Given the description of an element on the screen output the (x, y) to click on. 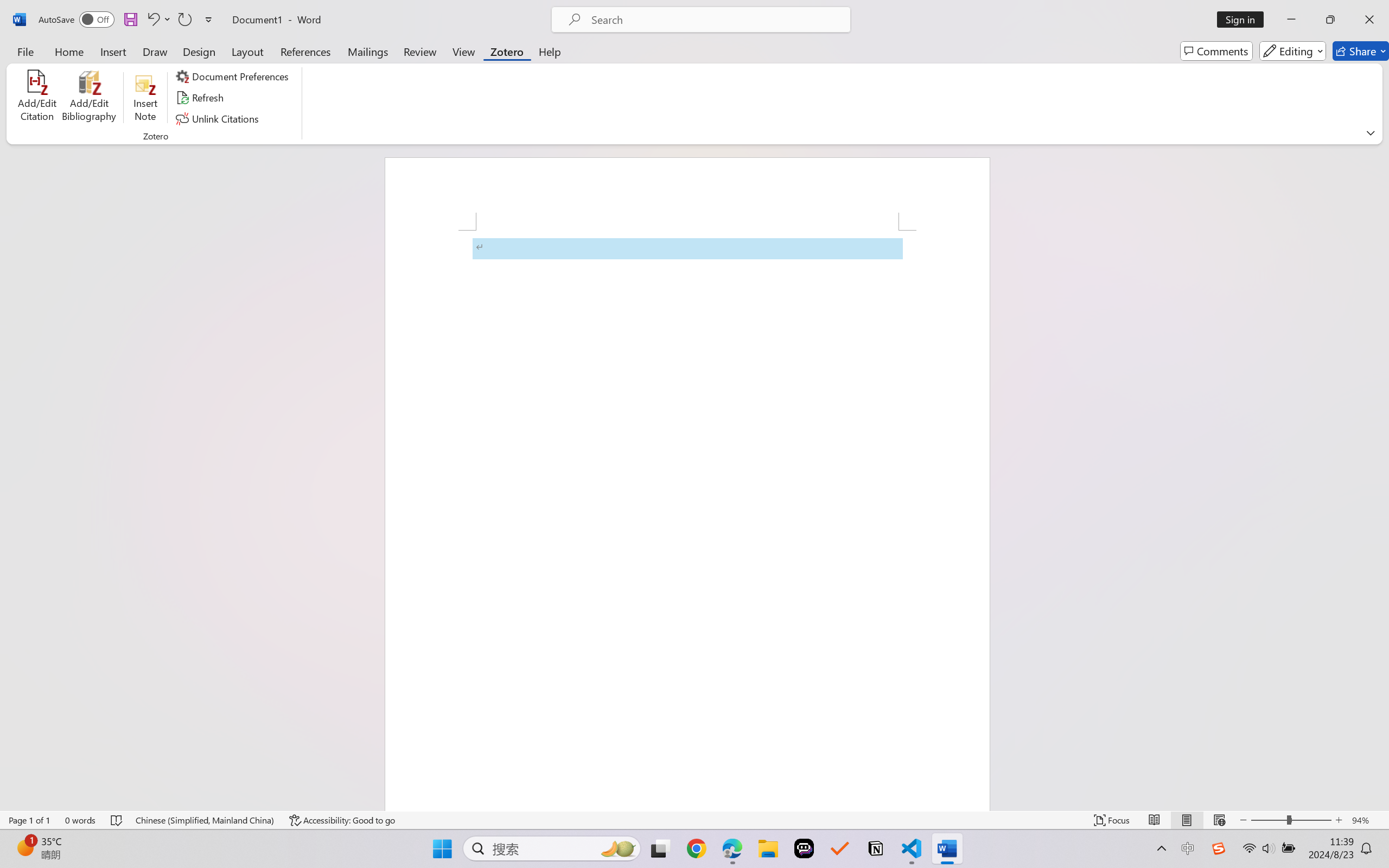
Add/Edit Bibliography (88, 97)
Repeat Style (184, 19)
